Given the description of an element on the screen output the (x, y) to click on. 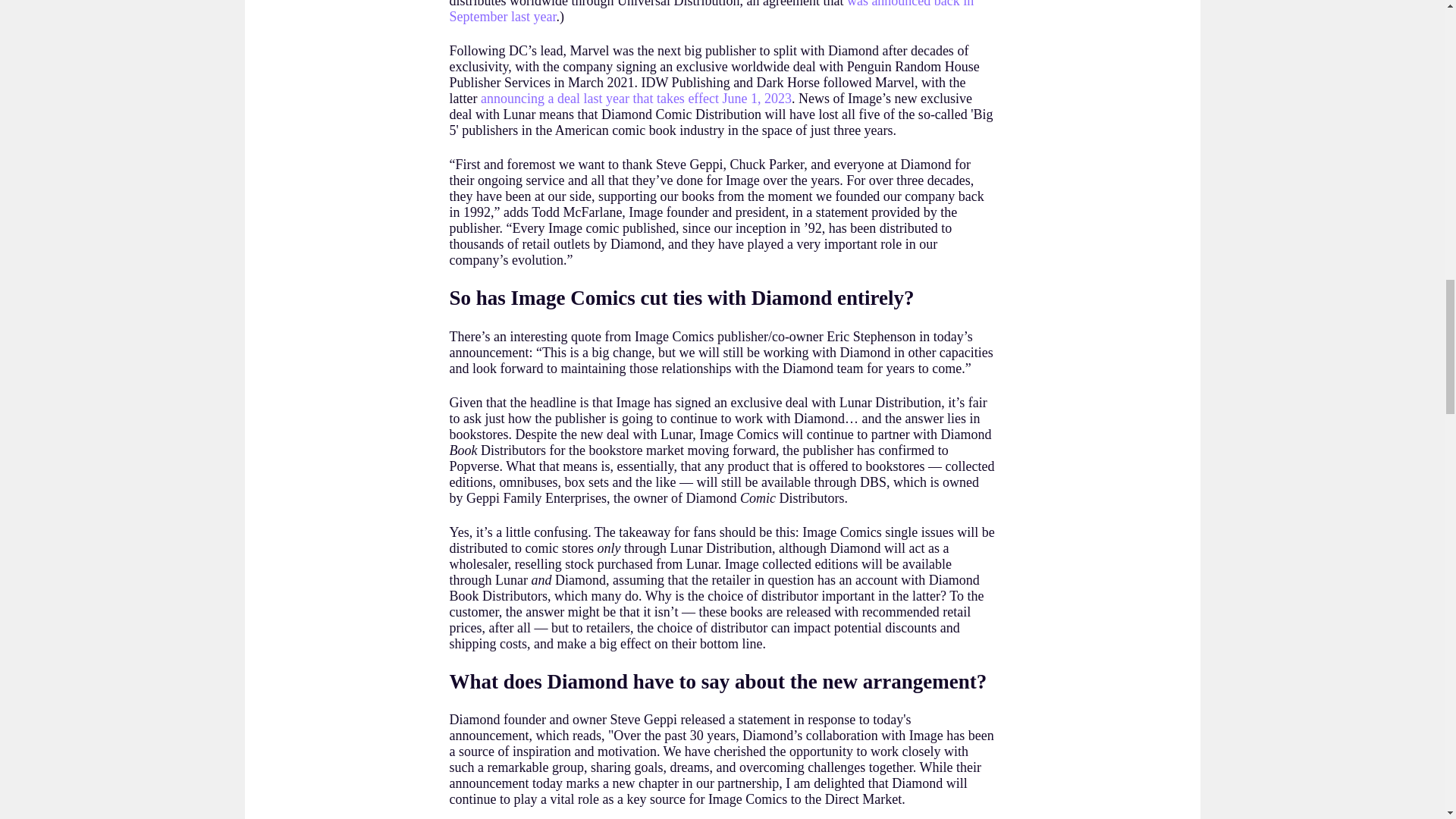
announcing a deal last year that takes effect June 1, 2023 (636, 98)
was announced back in September last year (711, 12)
